Given the description of an element on the screen output the (x, y) to click on. 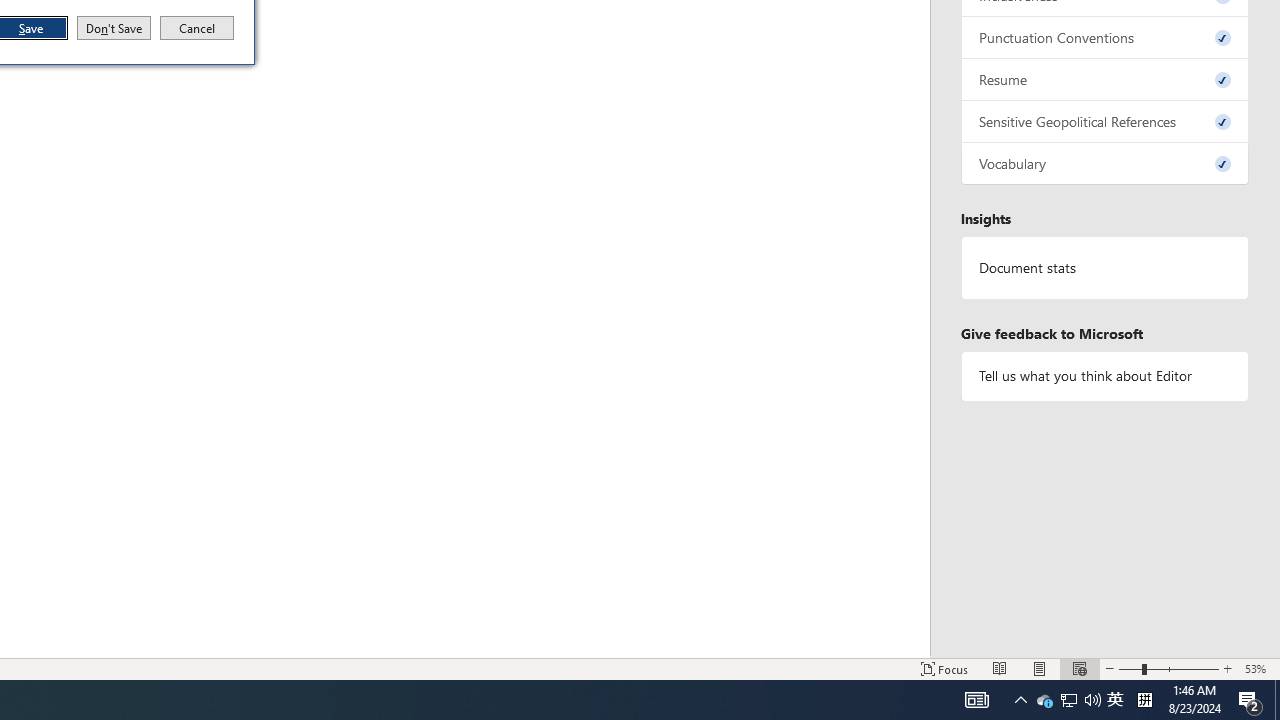
Tray Input Indicator - Chinese (Simplified, China) (1144, 699)
Resume, 0 issues. Press space or enter to review items. (1105, 79)
Don't Save (113, 27)
Tell us what you think about Editor (1105, 376)
Document statistics (1105, 267)
